Given the description of an element on the screen output the (x, y) to click on. 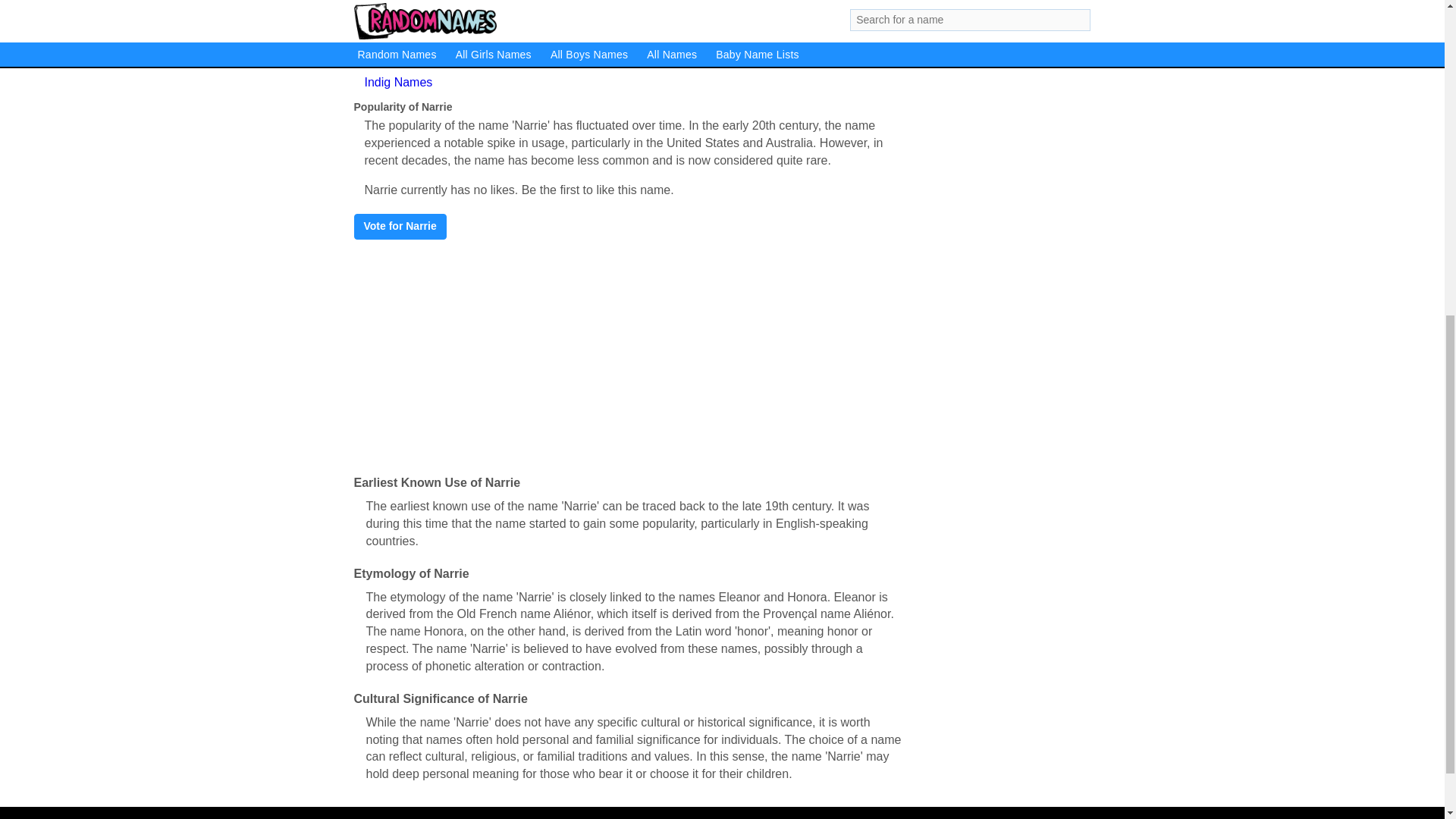
Indig Names (398, 82)
Advertisement (629, 353)
Vote for Narrie (399, 226)
Indig Names (398, 82)
Advertisement (972, 0)
